Given the description of an element on the screen output the (x, y) to click on. 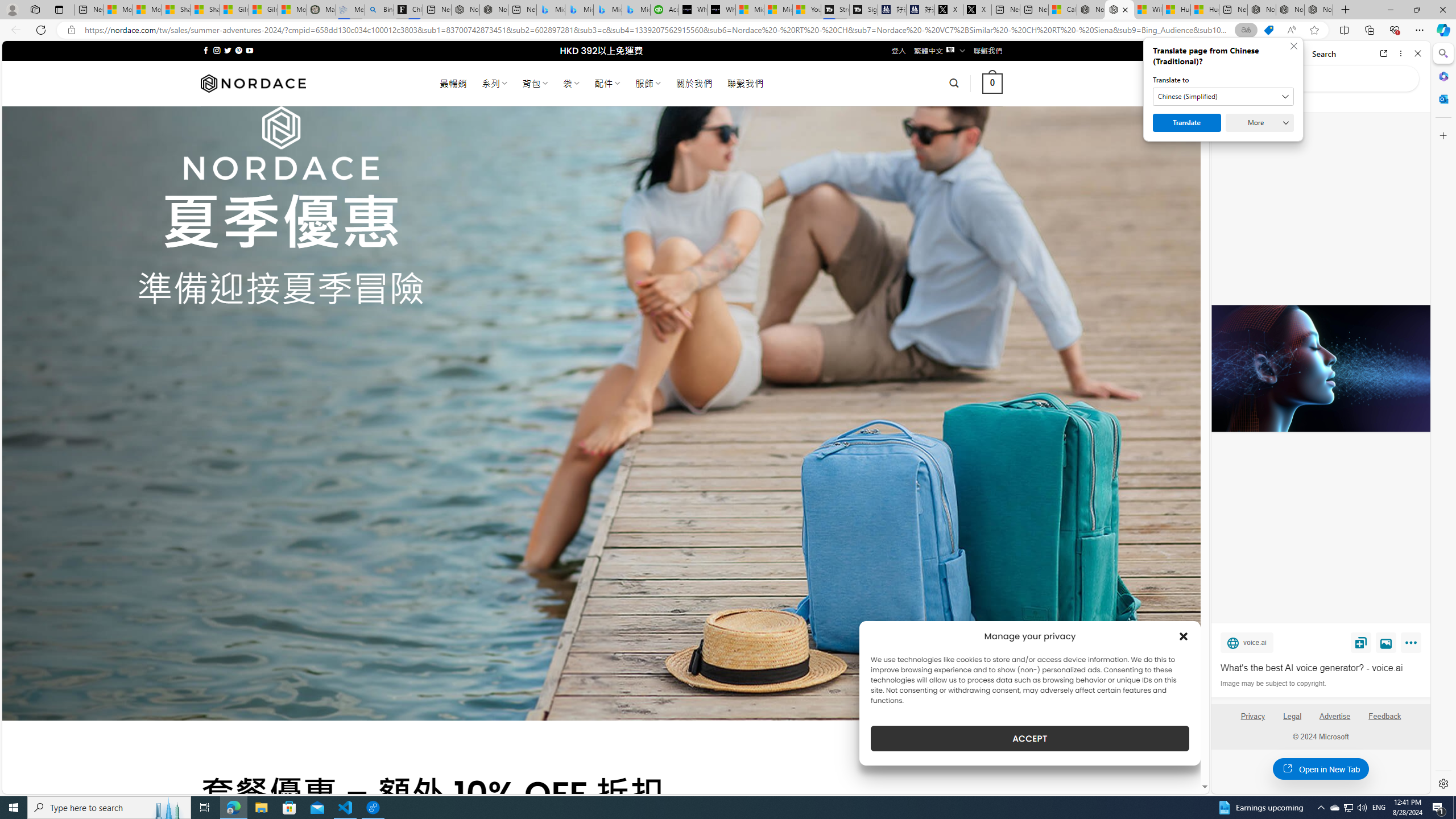
Translate (1187, 122)
Tab actions menu (58, 9)
More (1413, 644)
Nordace - Siena Pro 15 Essential Set (1319, 9)
Privacy (1252, 720)
Nordace - #1 Japanese Best-Seller - Siena Smart Backpack (493, 9)
New tab (1233, 9)
Translate to (1223, 96)
This site scope (1259, 102)
Copilot (Ctrl+Shift+.) (1442, 29)
